Given the description of an element on the screen output the (x, y) to click on. 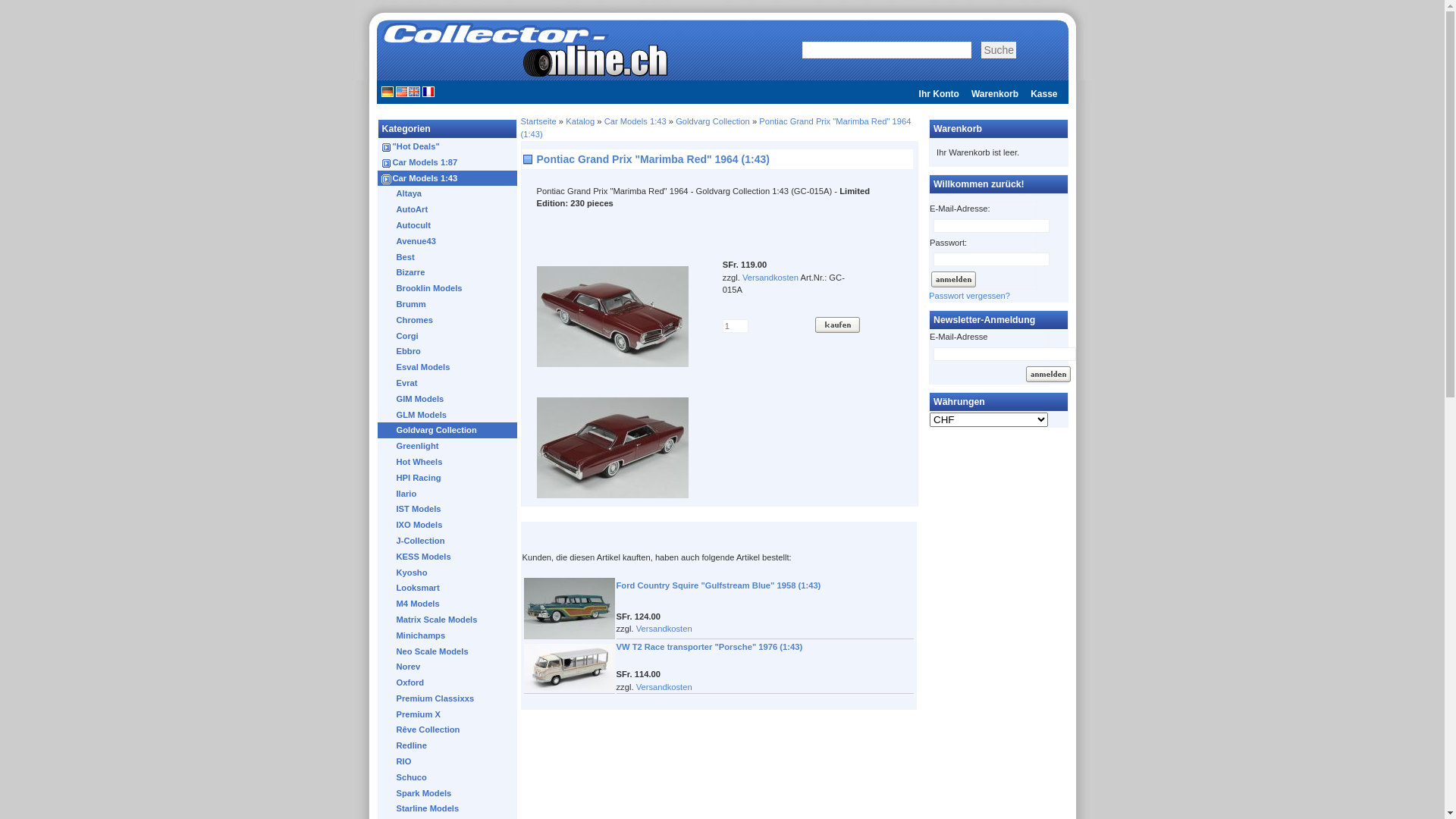
 Anmelden  Element type: hover (953, 278)
 In den Warenkorb  Element type: hover (837, 324)
Kyosho Element type: text (449, 572)
Ford Country Squire "Gulfstream Blue" 1958 (1:43) Element type: text (717, 584)
 Anmelden  Element type: hover (1048, 373)
Autocult Element type: text (449, 225)
IXO Models Element type: text (449, 525)
KESS Models Element type: text (449, 556)
GIM Models Element type: text (449, 399)
M4 Models Element type: text (449, 603)
Oxford Element type: text (449, 682)
Suche Element type: text (998, 49)
Versandkosten Element type: text (770, 277)
Matrix Scale Models Element type: text (449, 619)
Altaya Element type: text (449, 193)
Avenue43 Element type: text (449, 241)
Norev Element type: text (449, 666)
Esval Models Element type: text (449, 367)
Greenlight Element type: text (449, 446)
J-Collection Element type: text (449, 541)
Chromes Element type: text (449, 320)
IST Models Element type: text (449, 509)
Car Models 1:43 Element type: text (635, 120)
Bizarre Element type: text (449, 272)
Ihr Konto Element type: text (939, 93)
Spark Models Element type: text (449, 793)
Looksmart Element type: text (449, 588)
Ebbro Element type: text (449, 351)
Schuco Element type: text (449, 777)
Car Models 1:87 Element type: text (451, 162)
Premium Classixxs Element type: text (449, 698)
RIO Element type: text (449, 761)
"Hot Deals" Element type: text (451, 146)
Startseite Element type: text (537, 120)
Pontiac Grand Prix  Element type: hover (612, 502)
Versandkosten Element type: text (664, 628)
Evrat Element type: text (449, 383)
Neo Scale Models Element type: text (449, 650)
Redline Element type: text (449, 745)
Best Element type: text (449, 257)
Goldvarg Collection Element type: text (449, 430)
Corgi Element type: text (449, 336)
GLM Models Element type: text (449, 415)
Pontiac Grand Prix "Marimba Red" 1964 (1:43) Element type: text (715, 127)
Car Models 1:43 Element type: text (451, 178)
Passwort vergessen? Element type: text (969, 295)
Premium X Element type: text (449, 714)
Brooklin Models Element type: text (449, 288)
Katalog Element type: text (579, 120)
Kasse Element type: text (1043, 93)
Goldvarg Collection Element type: text (712, 120)
Versandkosten Element type: text (664, 686)
Minichamps Element type: text (449, 635)
HPI Racing Element type: text (449, 478)
Hot Wheels Element type: text (449, 462)
VW T2 Race transporter "Porsche" 1976 (1:43) Element type: text (708, 646)
Warenkorb Element type: text (994, 93)
AutoArt Element type: text (449, 209)
Brumm Element type: text (449, 304)
Ilario Element type: text (449, 494)
Starline Models Element type: text (449, 808)
